Given the description of an element on the screen output the (x, y) to click on. 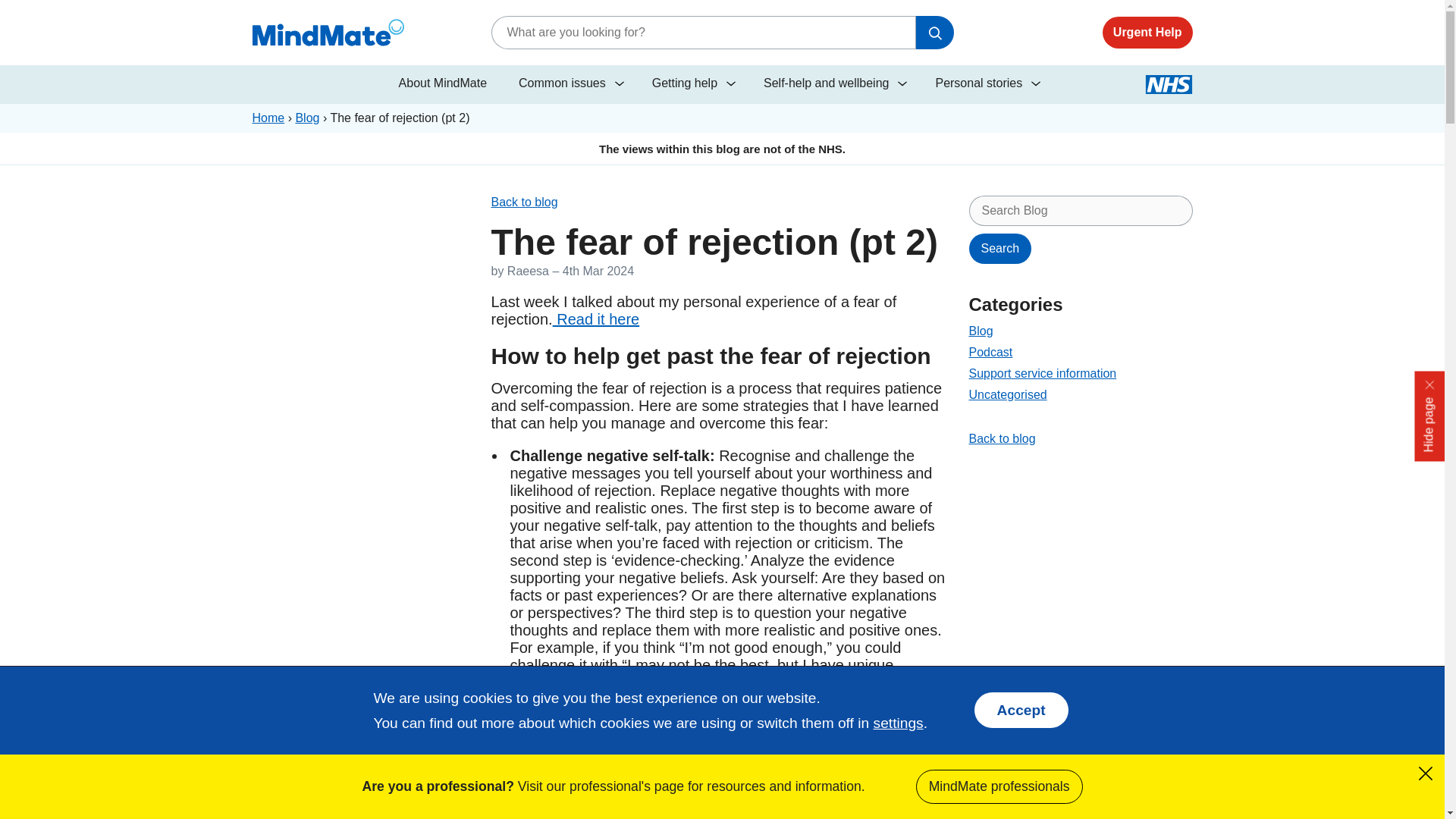
Self-help and wellbeing (833, 84)
Getting help (691, 84)
Search (1000, 248)
Common issues (568, 84)
Urgent Help (1147, 32)
About MindMate (443, 84)
Mindmate (367, 32)
Search (1000, 248)
MindMate professionals (999, 786)
Search (934, 32)
